Given the description of an element on the screen output the (x, y) to click on. 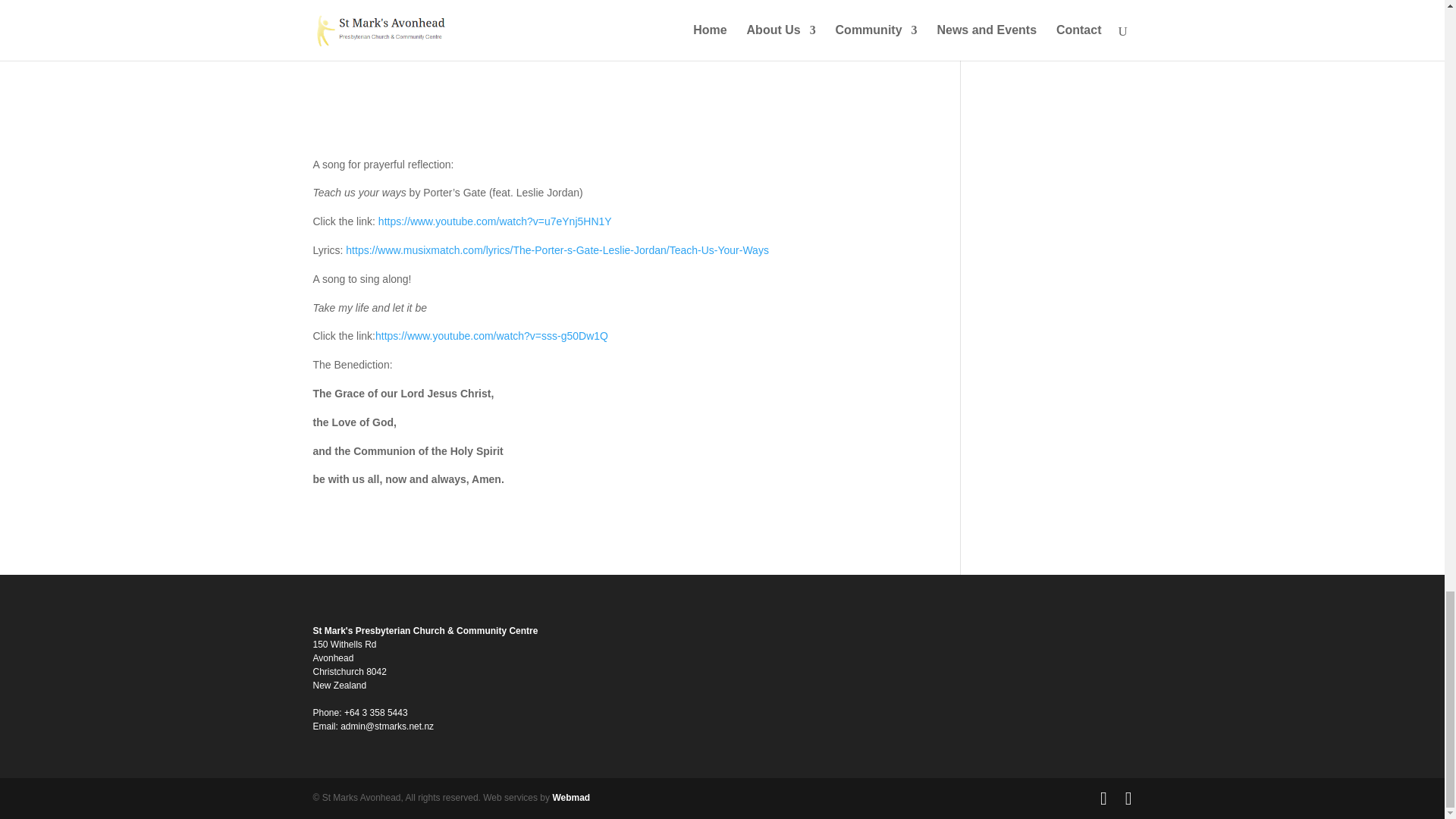
New Zealand Website design, development and hosting services (570, 797)
